Given the description of an element on the screen output the (x, y) to click on. 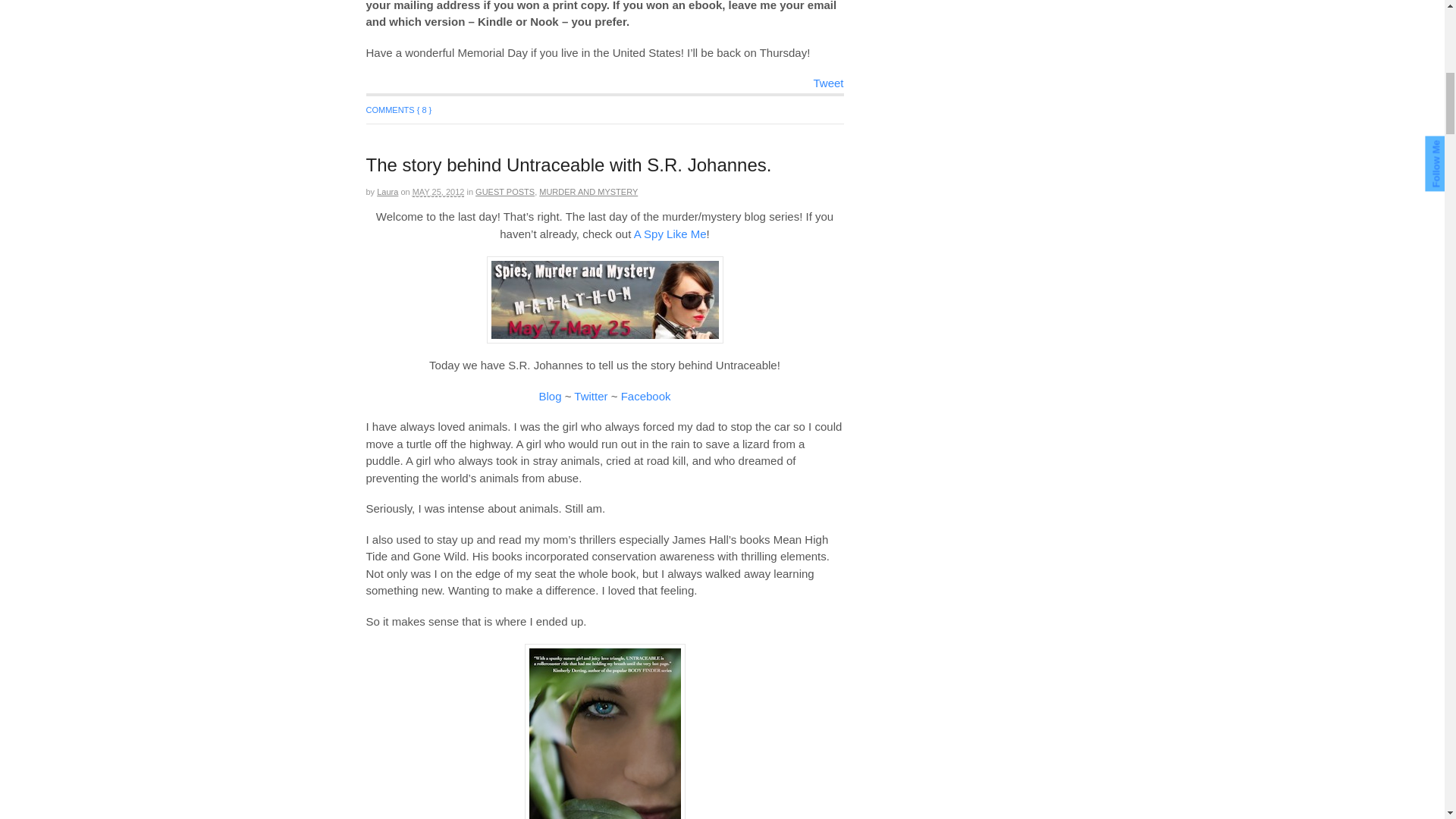
Laura (387, 191)
Facebook (646, 395)
Twitter (590, 395)
Posts by Laura (387, 191)
MURDER AND MYSTERY (587, 191)
GUEST POSTS (505, 191)
Untraceable Cover Quote small (604, 731)
Blog (549, 395)
The story behind Untraceable with S.R. Johannes. (568, 164)
Tweet (827, 82)
The story behind Untraceable with S.R. Johannes. (568, 164)
Spies, Murder Mystery banner (604, 299)
A Spy Like Me (669, 233)
